Given the description of an element on the screen output the (x, y) to click on. 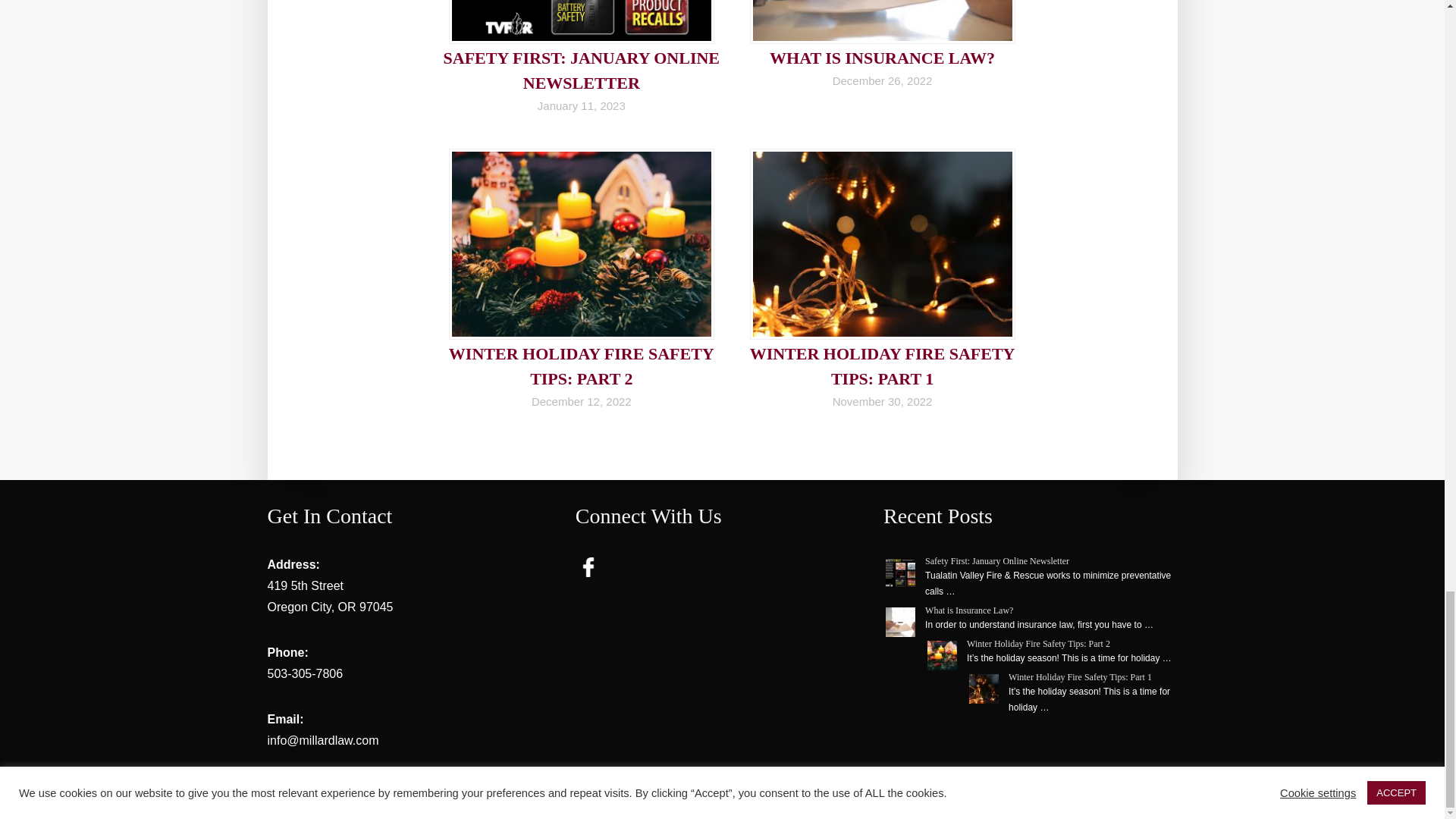
What is Insurance Law? (968, 610)
Safety First: January Online Newsletter (996, 561)
WINTER HOLIDAY FIRE SAFETY TIPS: PART 1 (881, 365)
SAFETY FIRST: JANUARY ONLINE NEWSLETTER (582, 70)
WINTER HOLIDAY FIRE SAFETY TIPS: PART 2 (581, 365)
WHAT IS INSURANCE LAW? (882, 57)
